Given the description of an element on the screen output the (x, y) to click on. 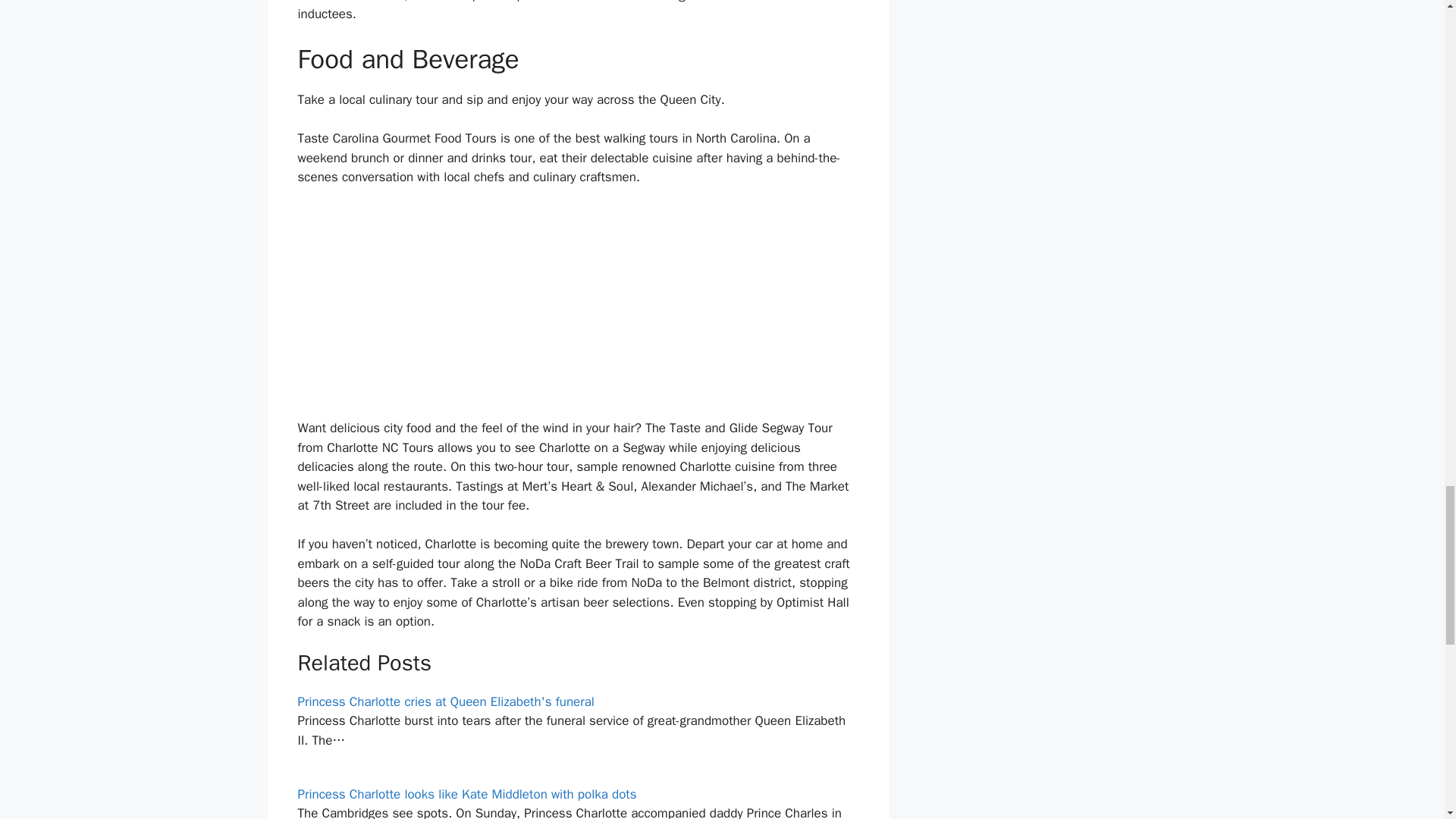
Princess Charlotte cries at Queen Elizabeth's funeral (445, 701)
Princess Charlotte looks like Kate Middleton with polka dots (466, 794)
Advertisement (578, 312)
